Given the description of an element on the screen output the (x, y) to click on. 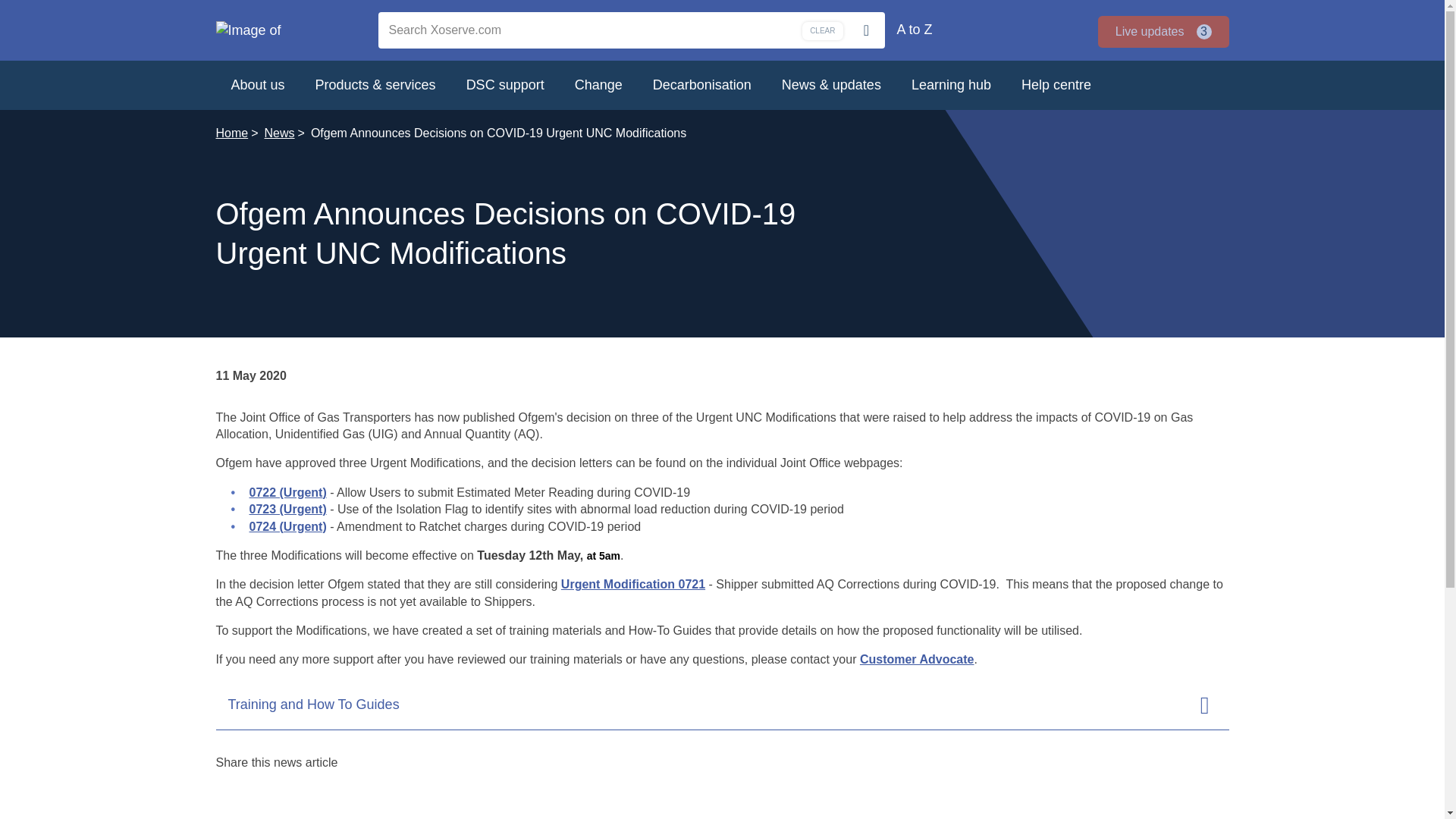
CLEAR (1162, 31)
A to Z (822, 31)
